Given the description of an element on the screen output the (x, y) to click on. 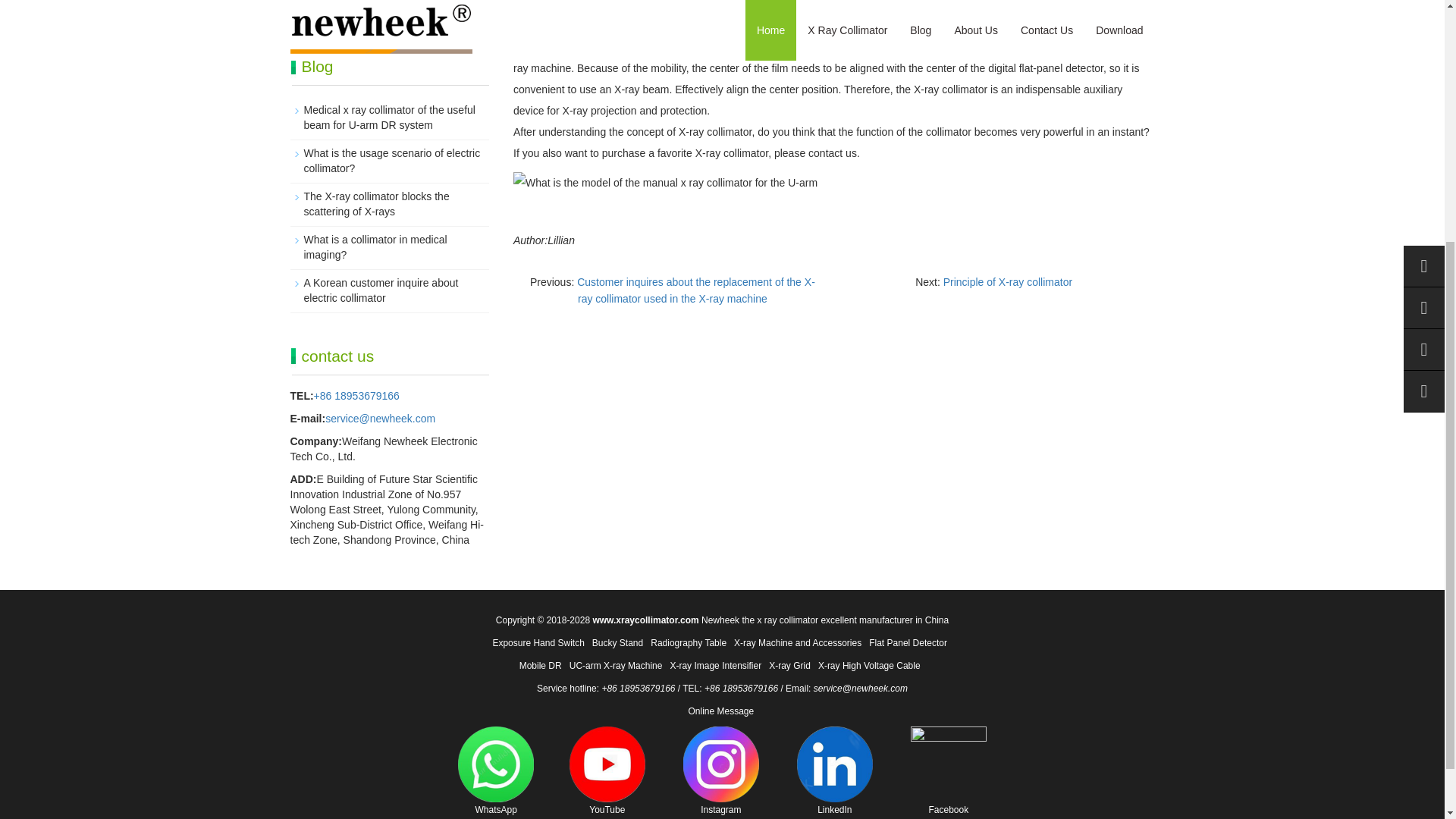
The X-ray collimator blocks the scattering of X-rays (375, 203)
What is the usage scenario of electric collimator? (391, 160)
What is a collimator in medical imaging? (374, 247)
A Korean customer inquire about electric collimator (380, 289)
Principle of X-ray collimator (1007, 282)
Others X Ray Collimator (359, 11)
The X-ray collimator blocks the scattering of X-rays (375, 203)
